Given the description of an element on the screen output the (x, y) to click on. 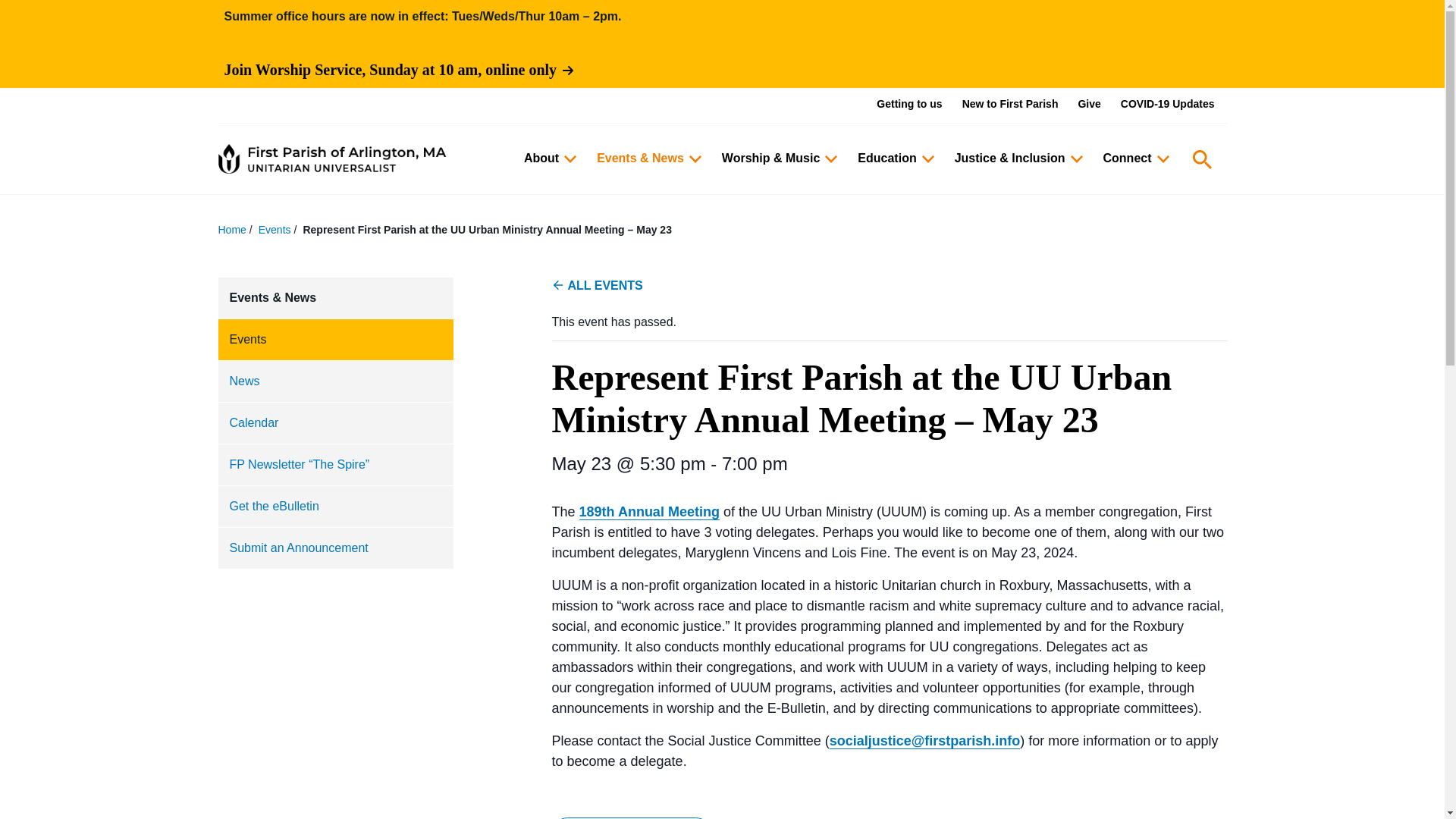
New to First Parish (1010, 104)
Close Alert (1210, 43)
Getting to us (909, 104)
COVID-19 Updates (1168, 104)
Give (1089, 104)
About (548, 158)
